Given the description of an element on the screen output the (x, y) to click on. 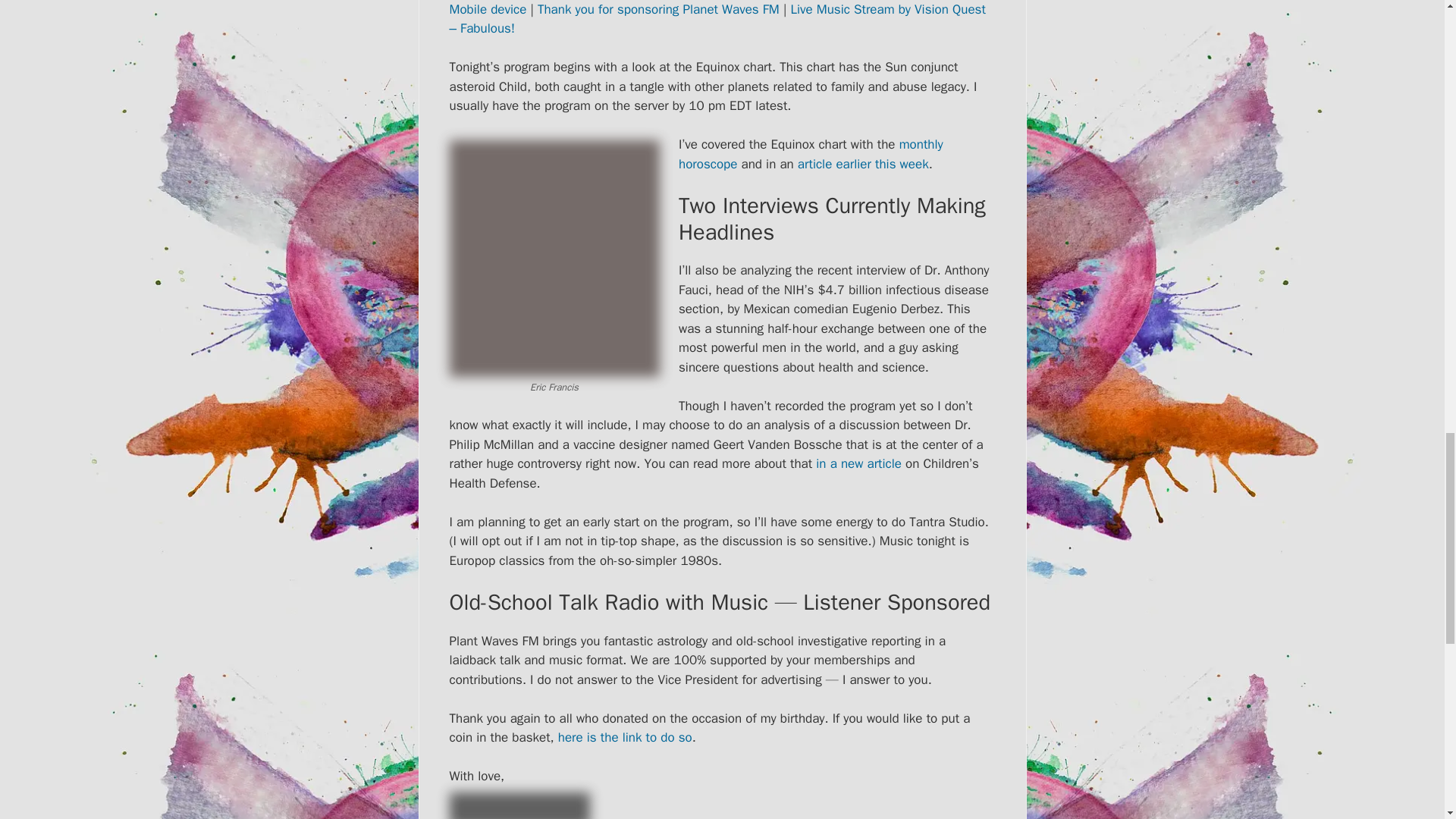
Thank you for sponsoring Planet Waves FM (657, 9)
Mobile device (486, 9)
monthly horoscope (810, 153)
article earlier this week (862, 163)
here is the link to do so (625, 737)
in a new article (858, 463)
Live Music Stream by (852, 9)
